Given the description of an element on the screen output the (x, y) to click on. 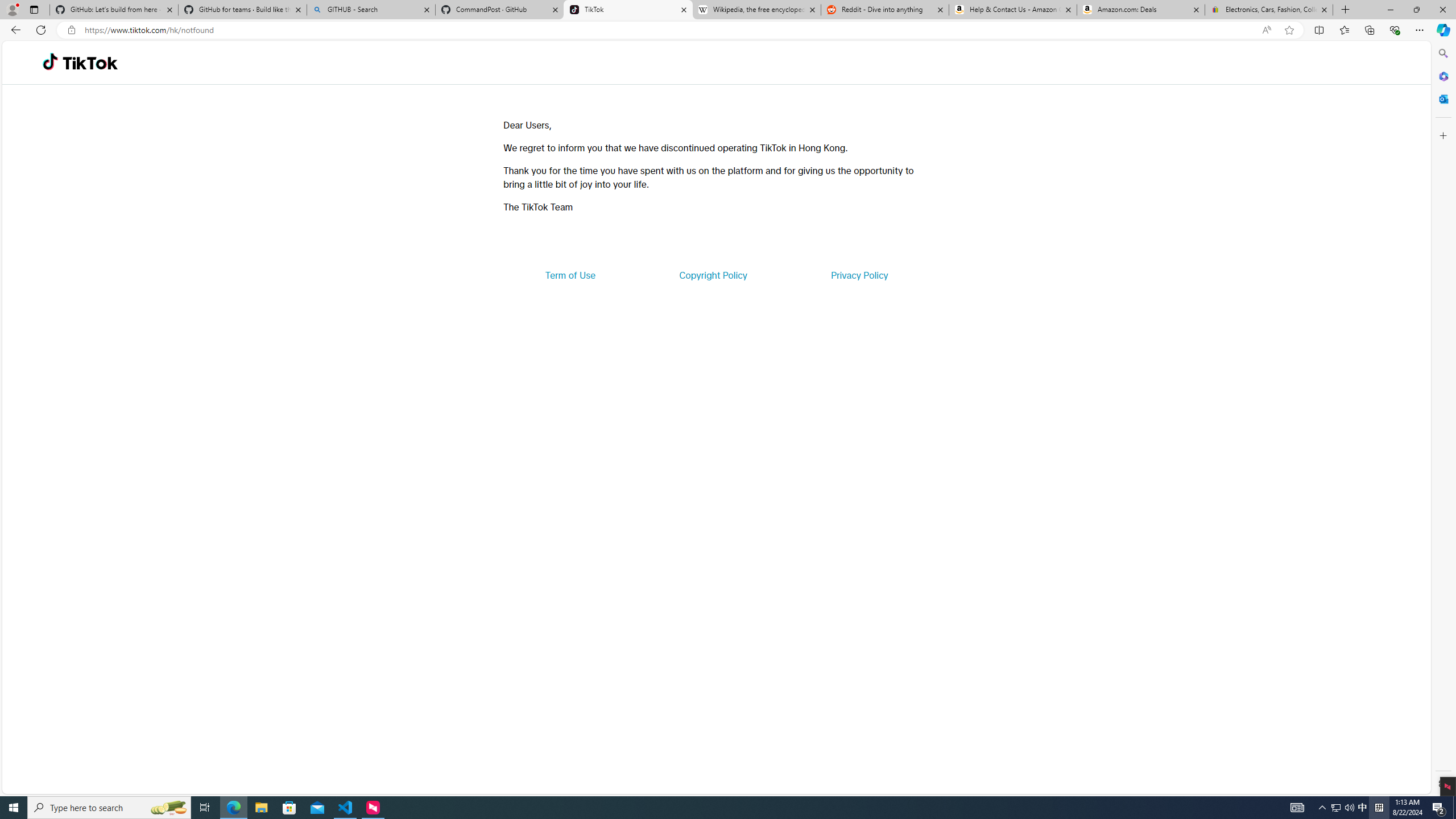
Help & Contact Us - Amazon Customer Service (1012, 9)
Term of Use (569, 274)
Close Outlook pane (1442, 98)
Copyright Policy (712, 274)
